Given the description of an element on the screen output the (x, y) to click on. 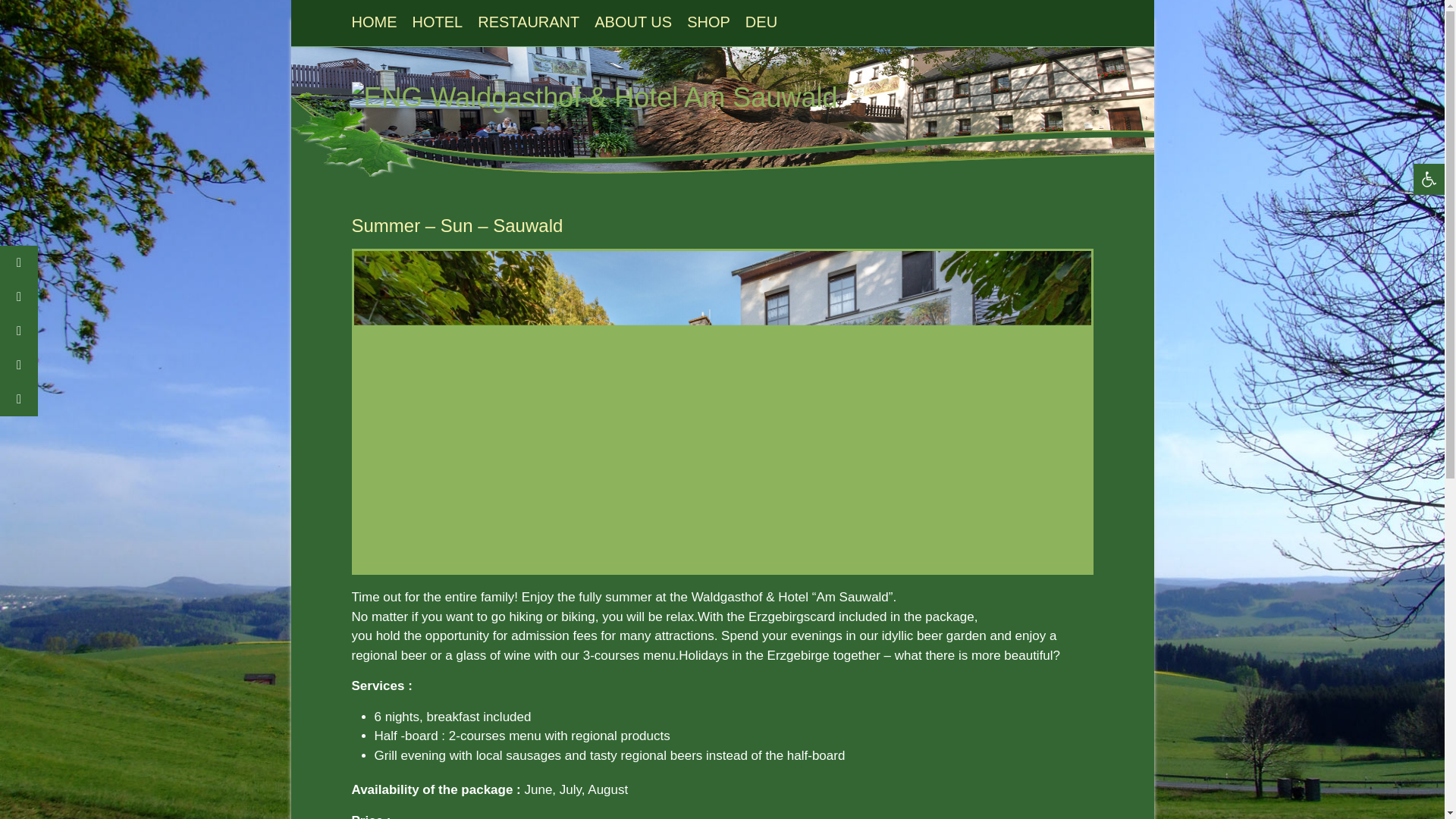
SHOP (708, 27)
HOTEL (437, 27)
RESTAURANT (528, 27)
DEU (761, 27)
HOME (374, 27)
ABOUT US (632, 27)
Accessibility Tools (1429, 179)
